Given the description of an element on the screen output the (x, y) to click on. 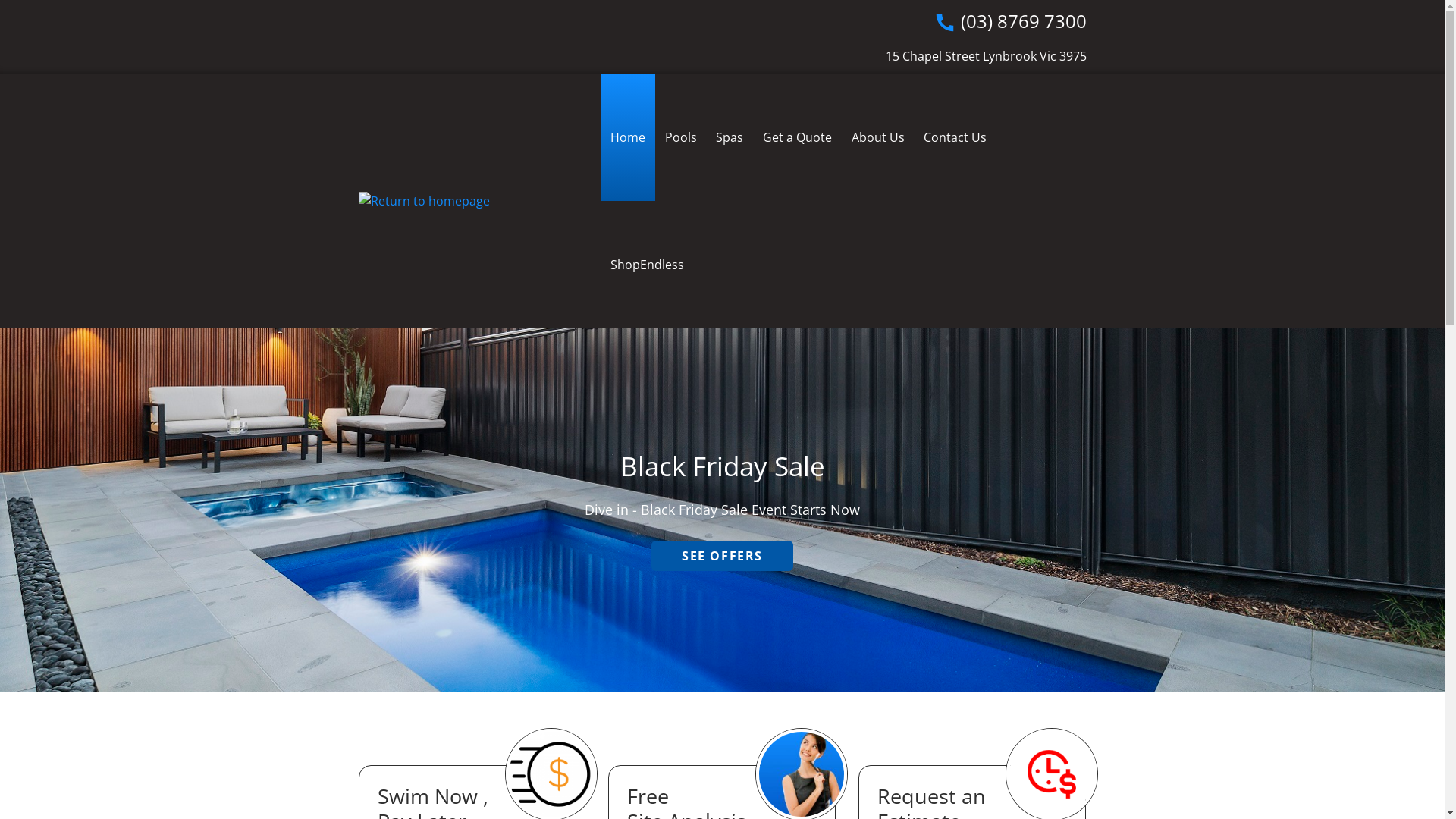
Pools Element type: text (680, 136)
Return to homepage Element type: hover (478, 200)
Get a Quote Element type: text (797, 136)
Contact Us Element type: text (954, 136)
Home Element type: text (627, 136)
About Us Element type: text (877, 136)
Spas Element type: text (729, 136)
ShopEndless Element type: text (646, 264)
SEE OFFERS Element type: text (722, 555)
